Given the description of an element on the screen output the (x, y) to click on. 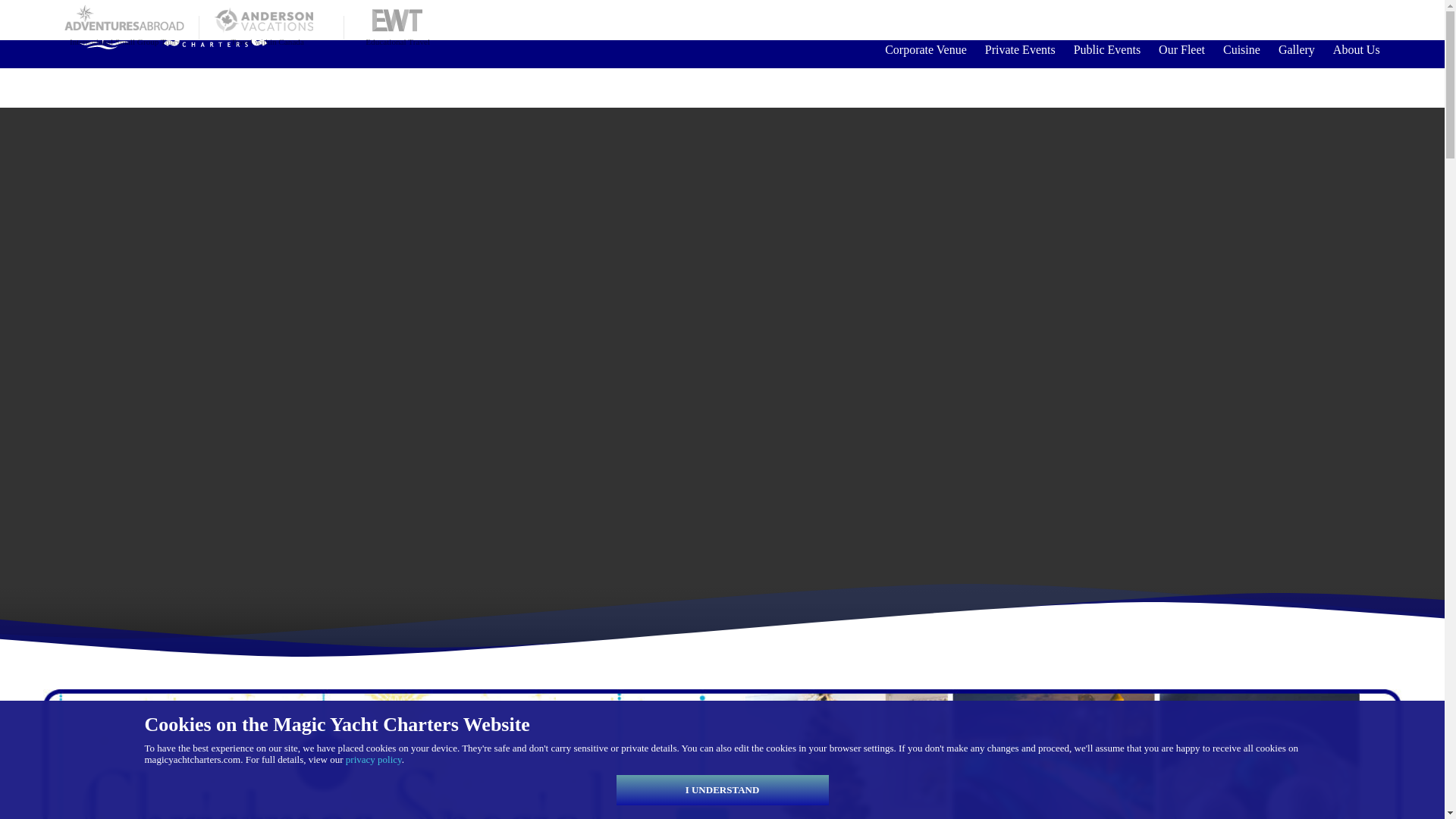
Corporate Venue (925, 48)
Corporate Venue (925, 48)
Our Fleet (1182, 48)
PLAN YOUR EVENT (1309, 19)
About Us (1351, 48)
Cuisine (1241, 48)
Gallery (1296, 48)
Public Events (1107, 48)
Private Events (1019, 48)
Private Events (1019, 48)
Public Events (1107, 48)
